Given the description of an element on the screen output the (x, y) to click on. 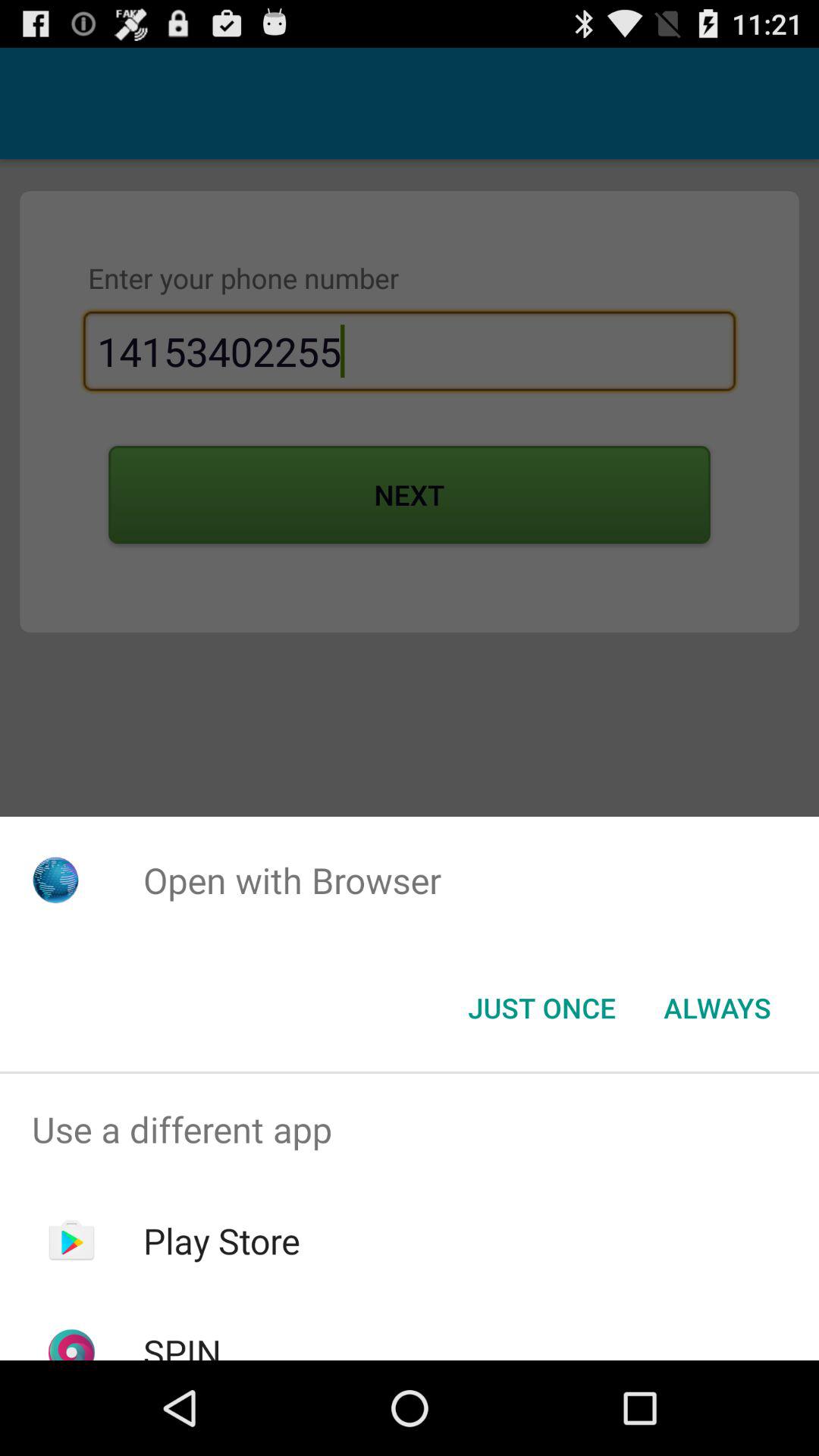
click the button to the right of just once (717, 1007)
